Given the description of an element on the screen output the (x, y) to click on. 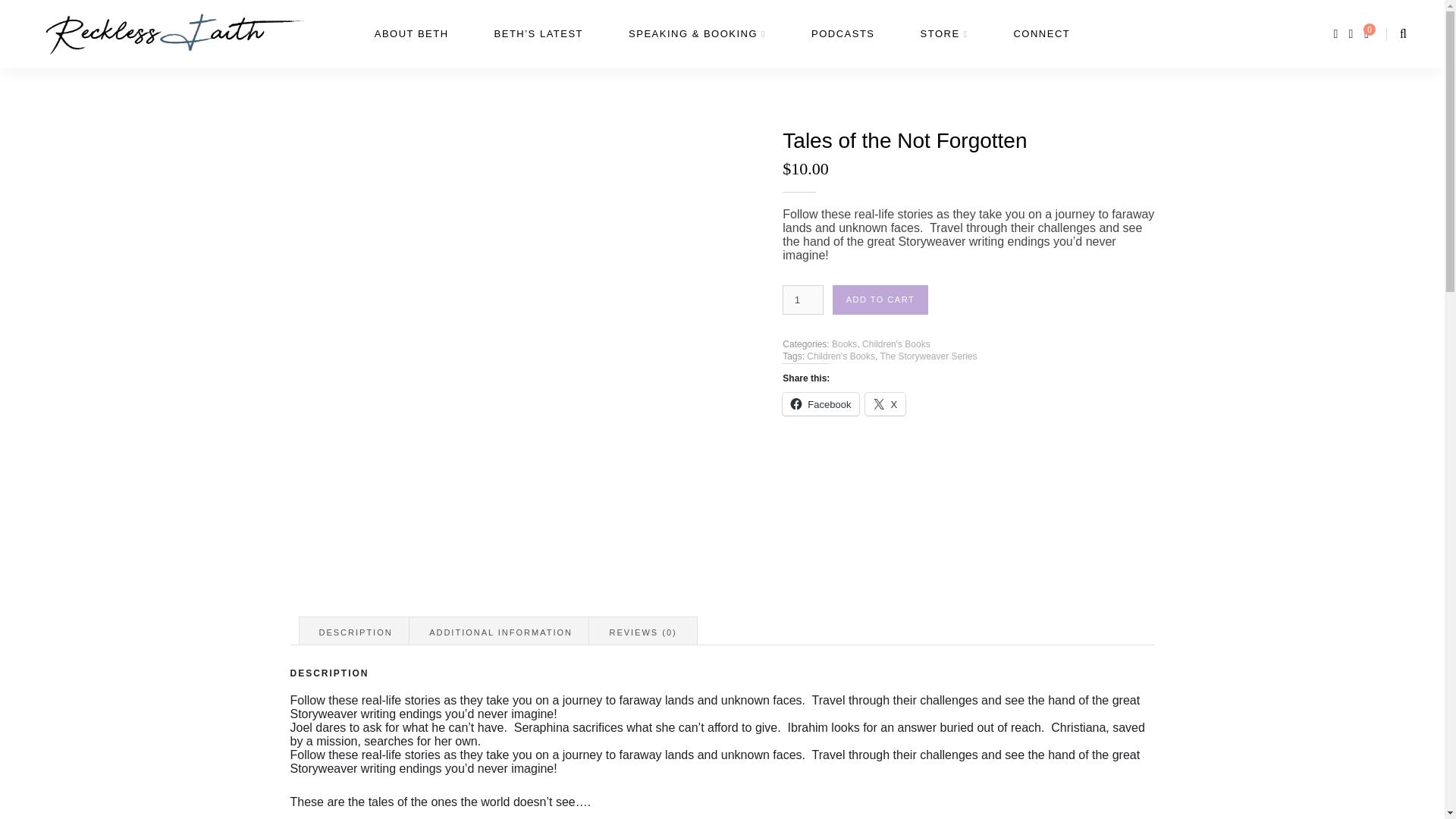
The Storyweaver Series (927, 356)
PODCASTS (842, 33)
Books (844, 344)
ABOUT BETH (411, 33)
ADD TO CART (880, 299)
Facebook (821, 404)
Children's Books (840, 356)
Click to share on Facebook (821, 404)
Children's Books (895, 344)
Click to share on X (884, 404)
